Given the description of an element on the screen output the (x, y) to click on. 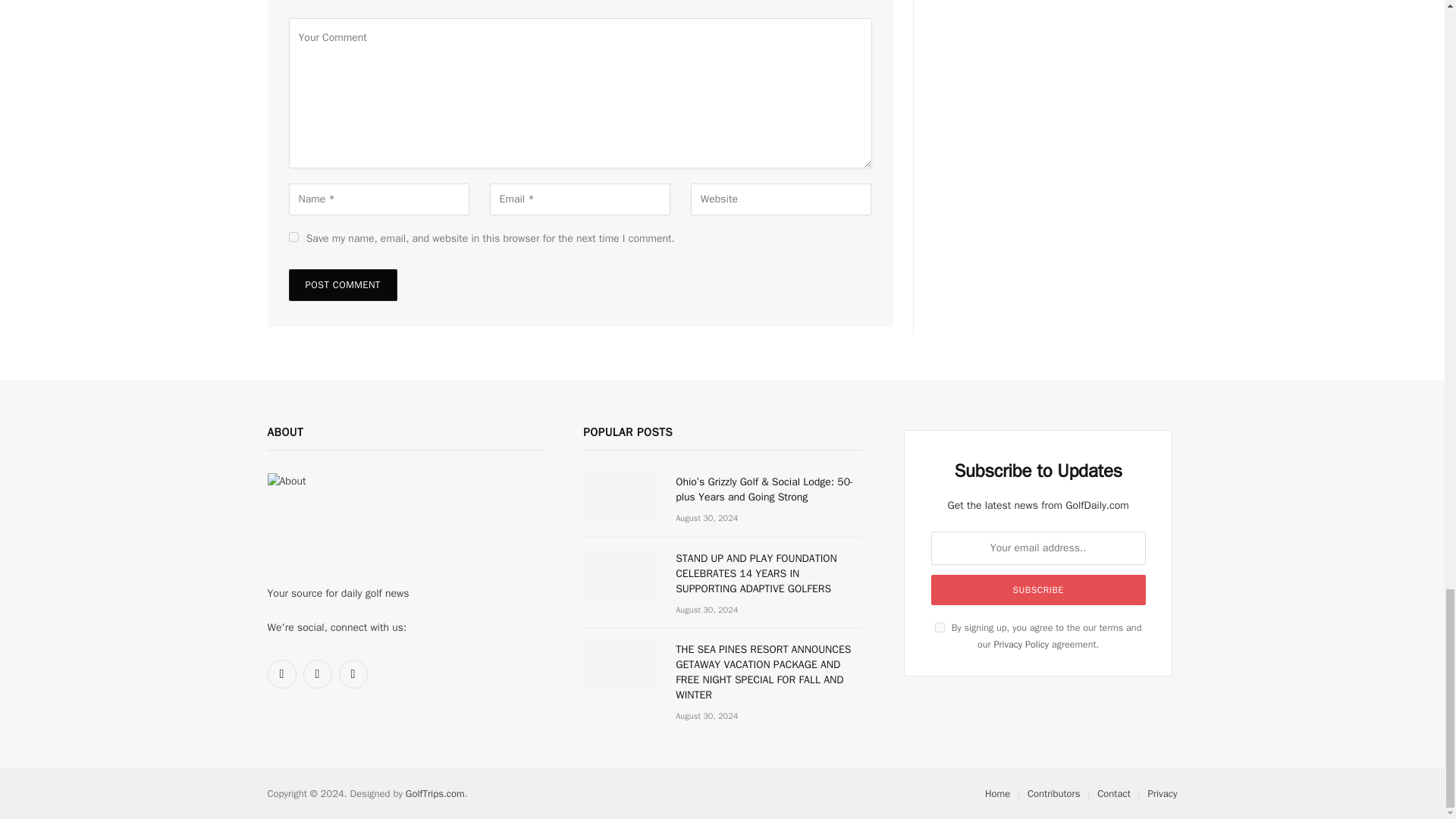
Post Comment (342, 285)
yes (293, 236)
on (939, 627)
Subscribe (1038, 589)
